Given the description of an element on the screen output the (x, y) to click on. 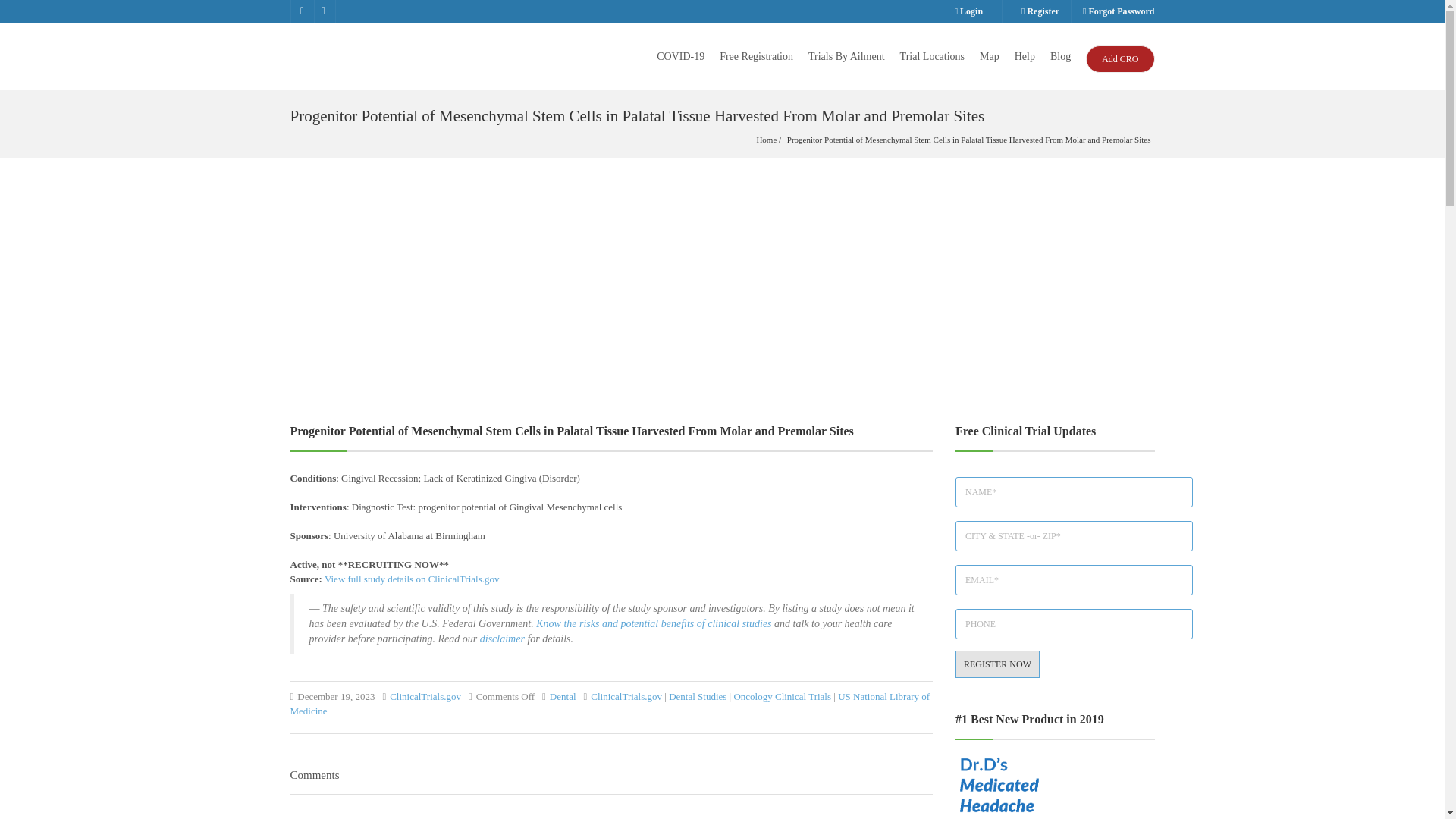
Forgot Password (1112, 11)
View full study details on ClinicalTrials.gov (411, 578)
Free Registration (756, 56)
Posts by ClinicalTrials.gov (425, 696)
REGISTER NOW (997, 664)
Register (1040, 11)
Login (968, 11)
Trials By Ailment (846, 56)
